Given the description of an element on the screen output the (x, y) to click on. 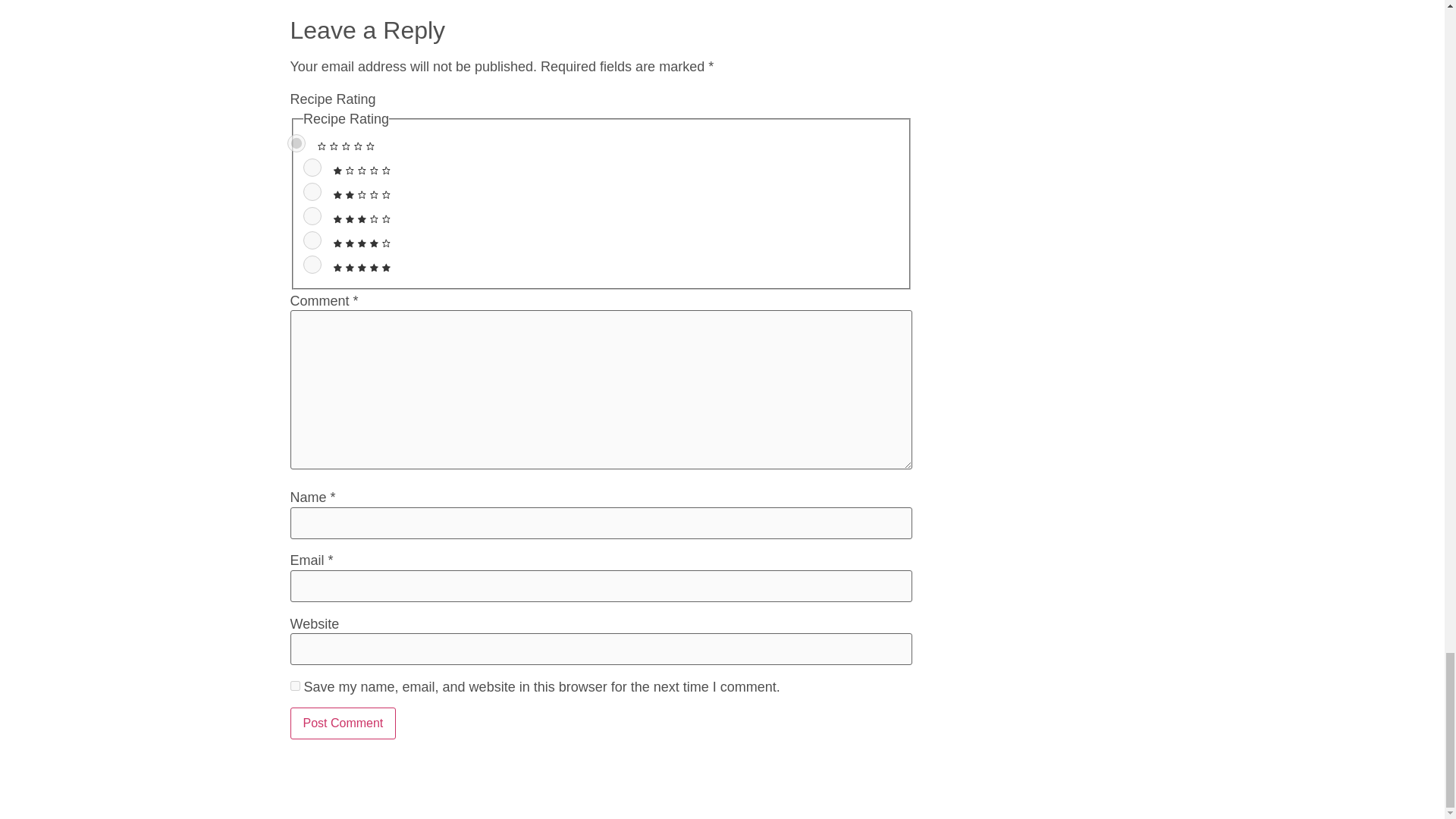
4 (311, 239)
3 (311, 216)
Post Comment (342, 723)
0 (295, 143)
yes (294, 685)
5 (311, 264)
1 (311, 167)
2 (311, 191)
